Given the description of an element on the screen output the (x, y) to click on. 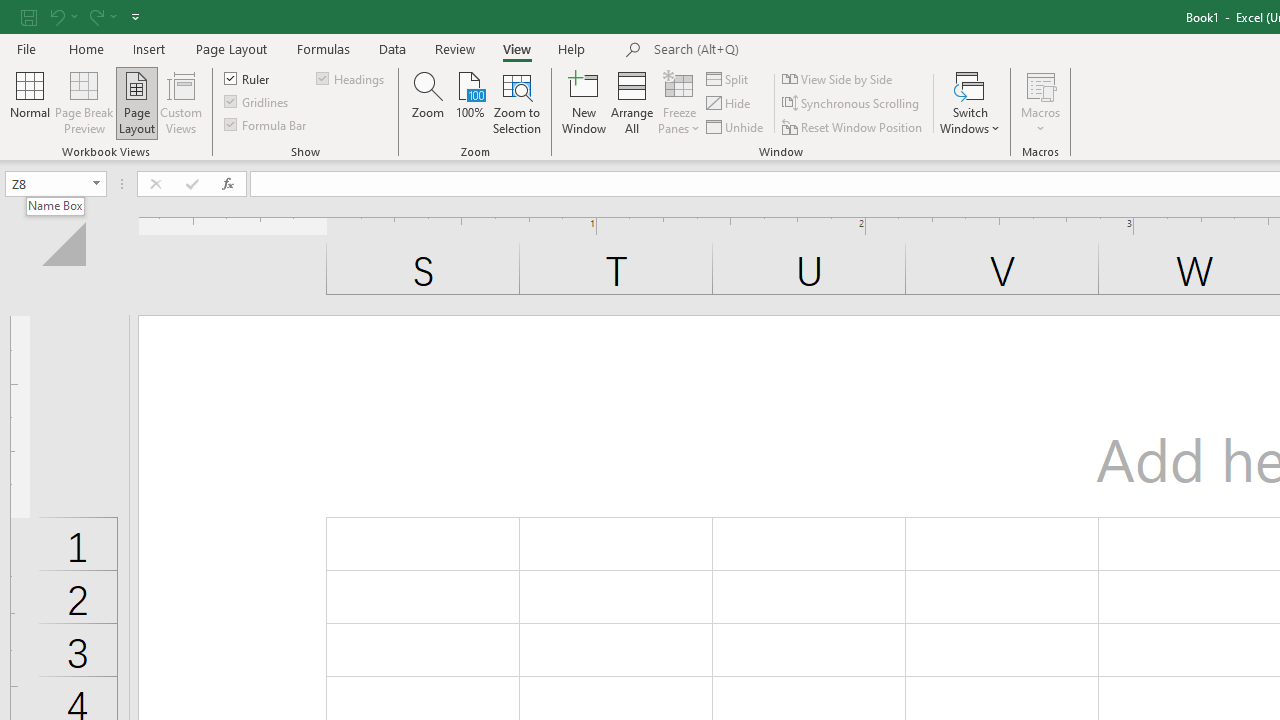
Arrange All (632, 102)
View Side by Side (838, 78)
Reset Window Position (854, 126)
